Given the description of an element on the screen output the (x, y) to click on. 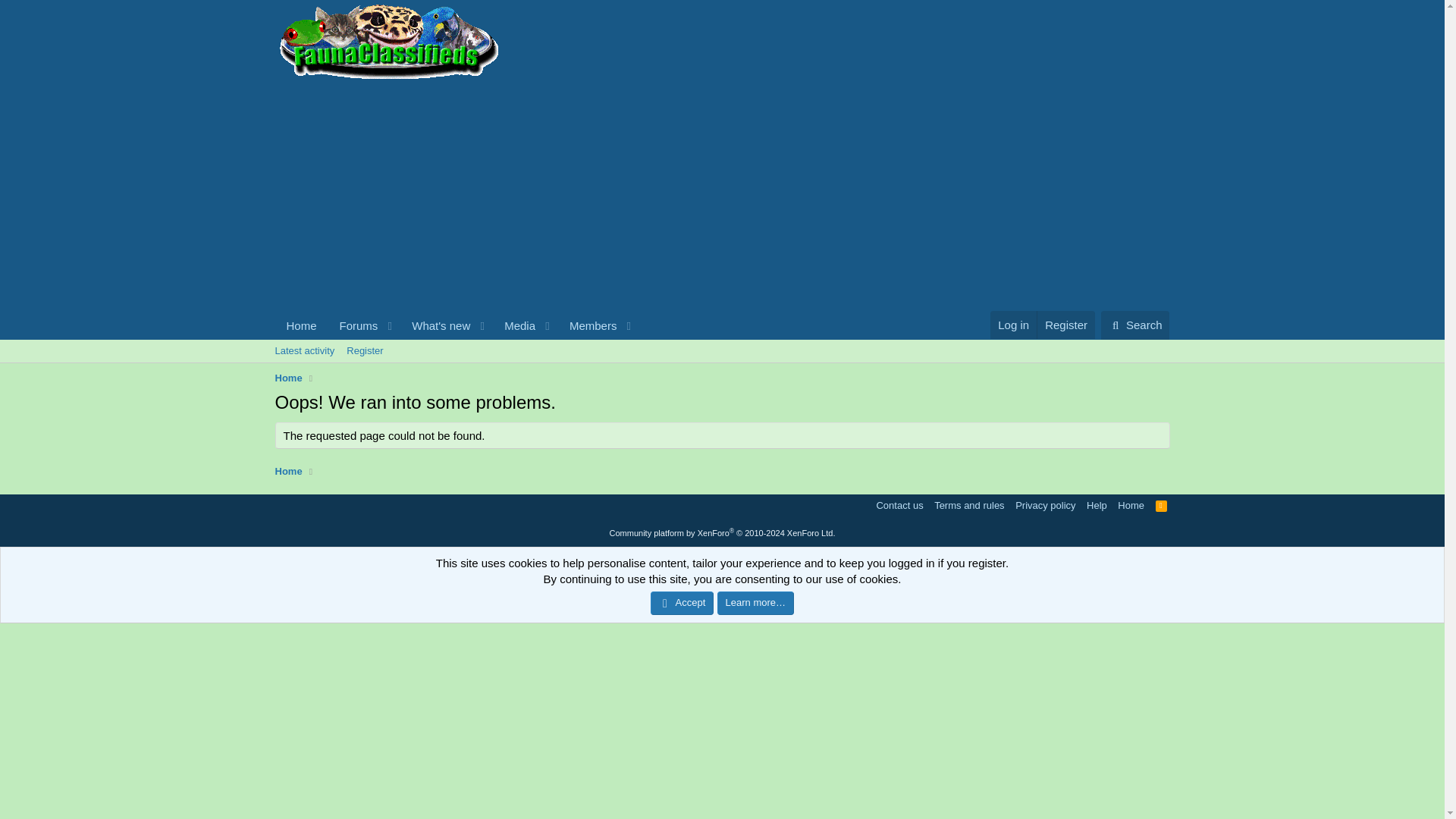
Media (515, 325)
Search (1135, 325)
Home (288, 471)
Home (288, 378)
What's new (435, 325)
Register (1065, 325)
RSS (456, 342)
Home (1161, 504)
Advertisement (720, 367)
Register (301, 325)
Members (456, 325)
